Given the description of an element on the screen output the (x, y) to click on. 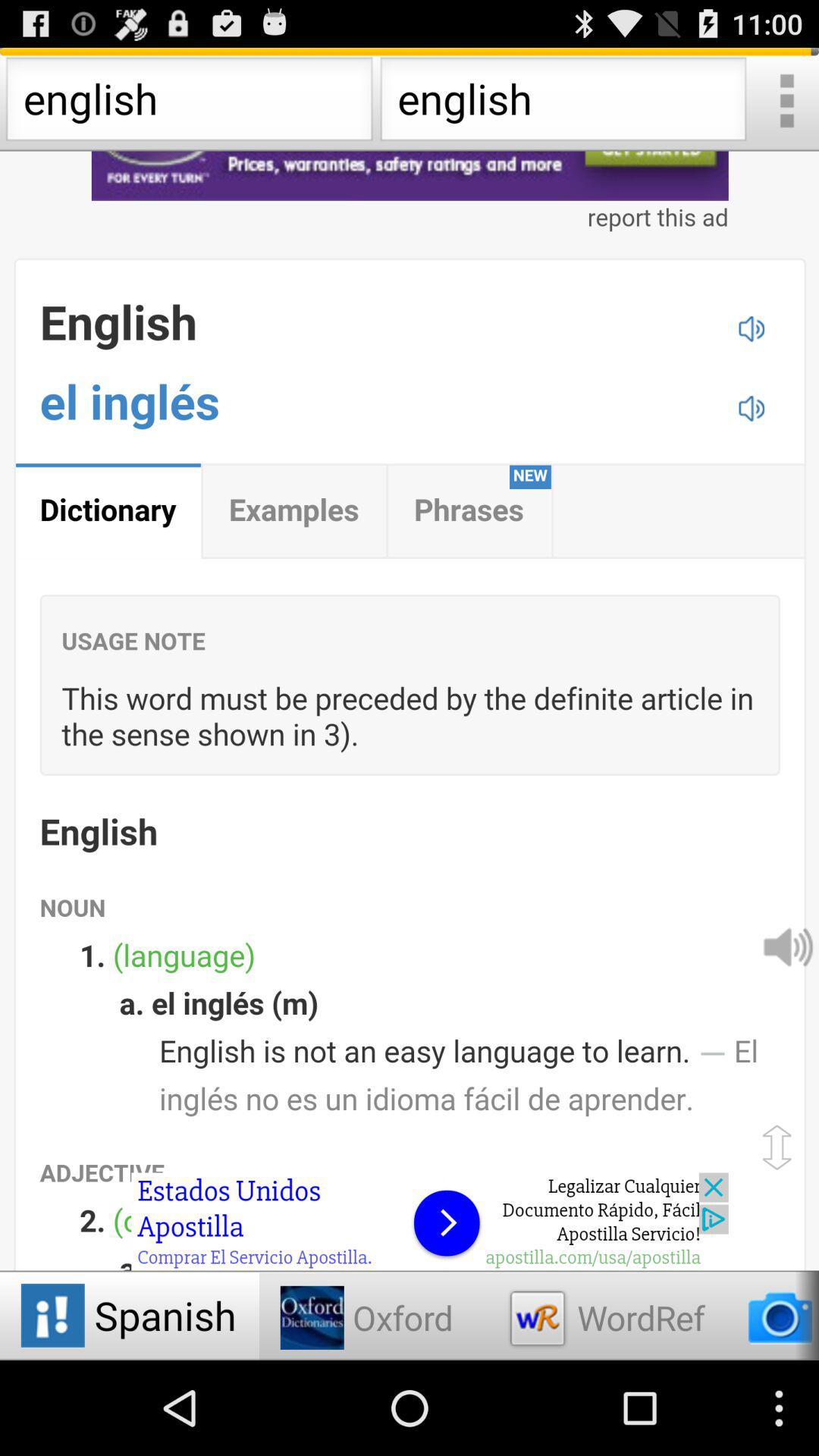
sound (787, 945)
